Given the description of an element on the screen output the (x, y) to click on. 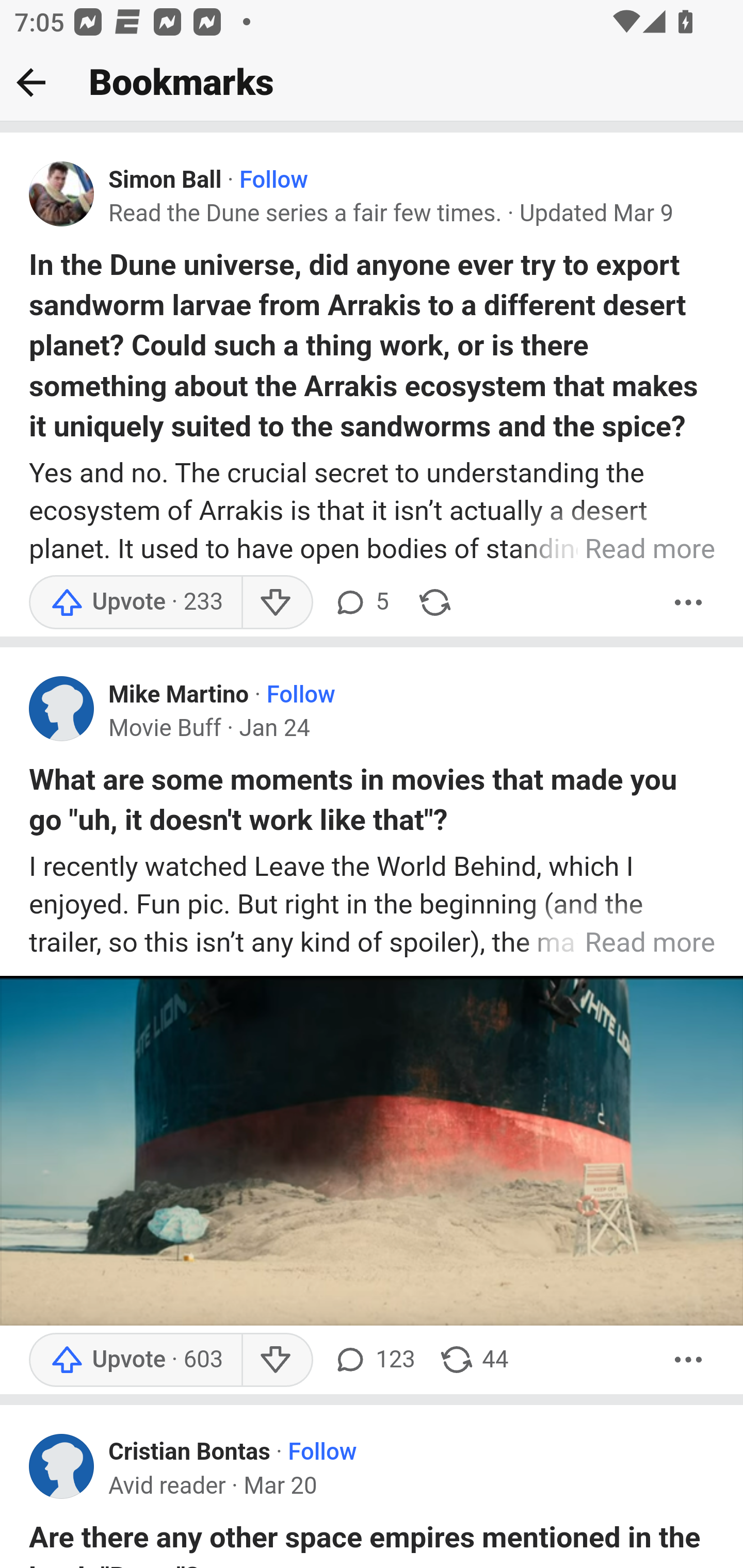
Me Home Search Add (371, 82)
Back (30, 82)
Profile photo for Simon Ball (61, 194)
Simon Ball (165, 180)
Follow (273, 180)
Updated Mar 9 Updated  Mar 9 (596, 213)
Upvote (135, 601)
Downvote (277, 601)
5 comments (360, 601)
Share (434, 601)
More (688, 601)
Profile photo for Mike Martino (61, 709)
Mike Martino (178, 694)
Follow (300, 694)
Jan 24 (274, 728)
Upvote (135, 1359)
Downvote (277, 1359)
123 comments (373, 1359)
44 shares (473, 1359)
More (688, 1359)
Profile photo for Cristian Bontas (61, 1465)
Cristian Bontas (189, 1453)
Follow (321, 1453)
Mar 20 (280, 1486)
